Given the description of an element on the screen output the (x, y) to click on. 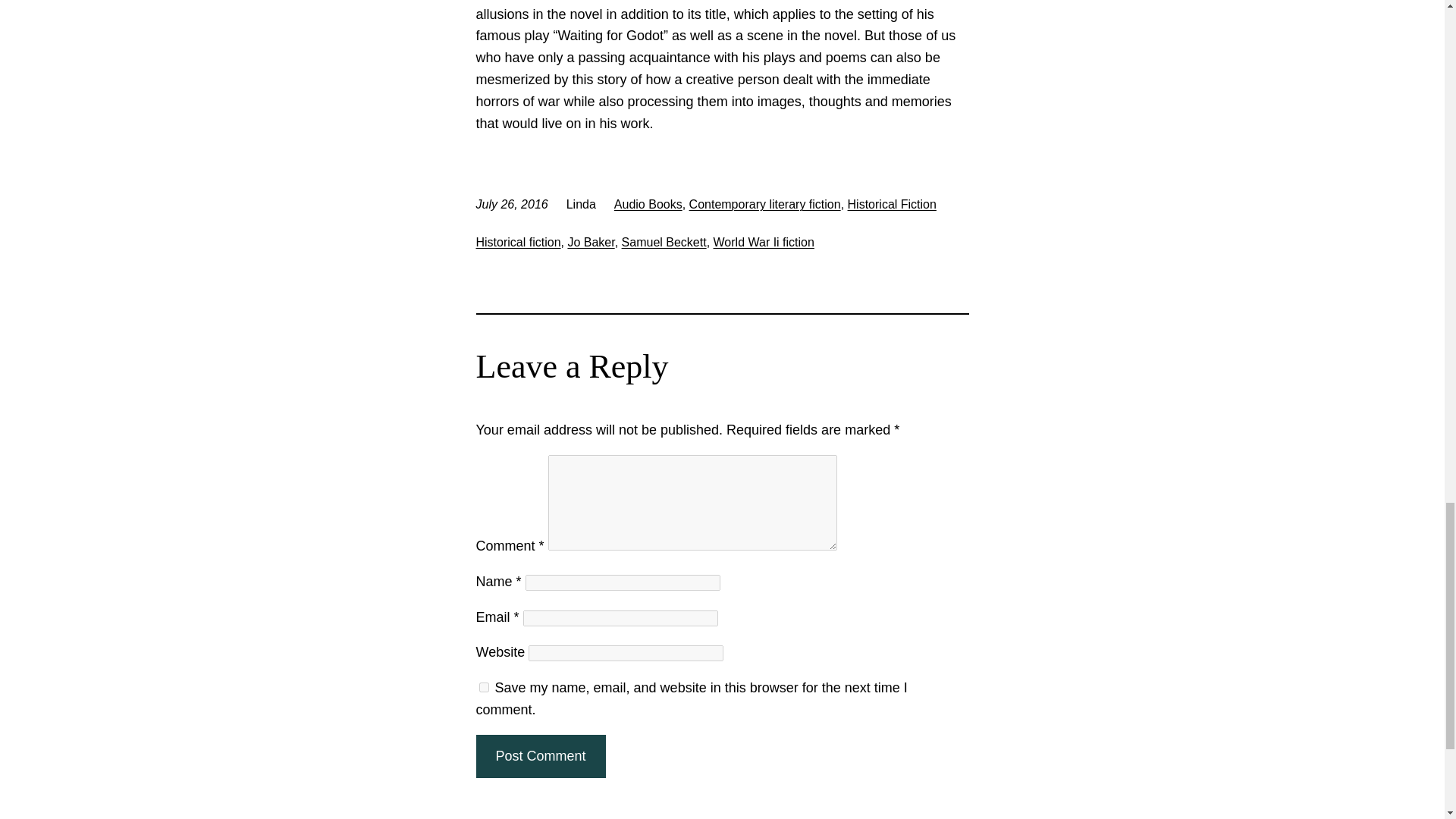
Audio Books (648, 204)
Post Comment (540, 756)
Samuel Beckett (663, 241)
Historical Fiction (891, 204)
Post Comment (540, 756)
Contemporary literary fiction (764, 204)
Historical fiction (518, 241)
yes (484, 687)
World War Ii fiction (763, 241)
Jo Baker (590, 241)
